Given the description of an element on the screen output the (x, y) to click on. 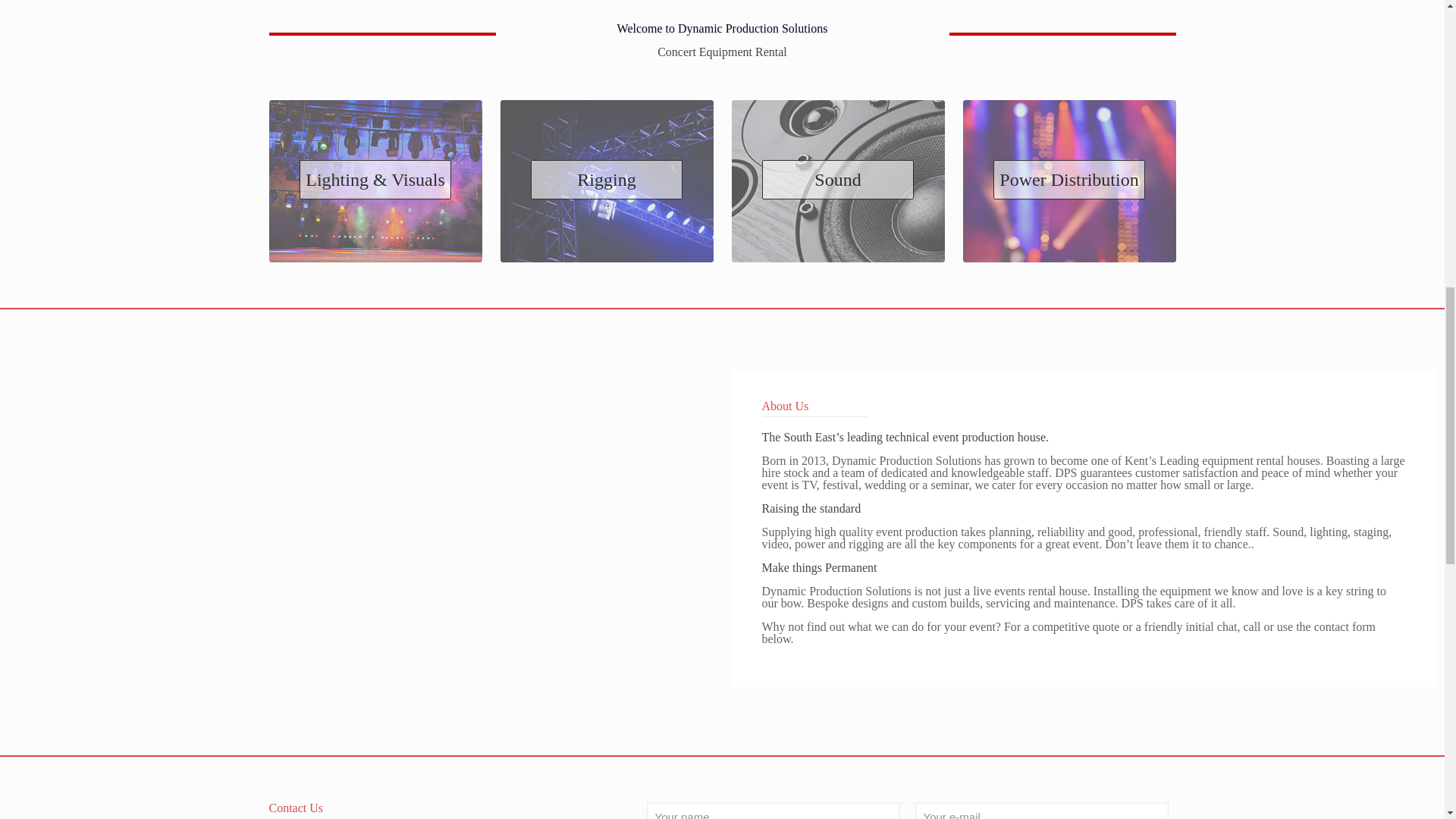
Power Distribution (1069, 149)
Sound (836, 149)
Rigging (606, 149)
